Given the description of an element on the screen output the (x, y) to click on. 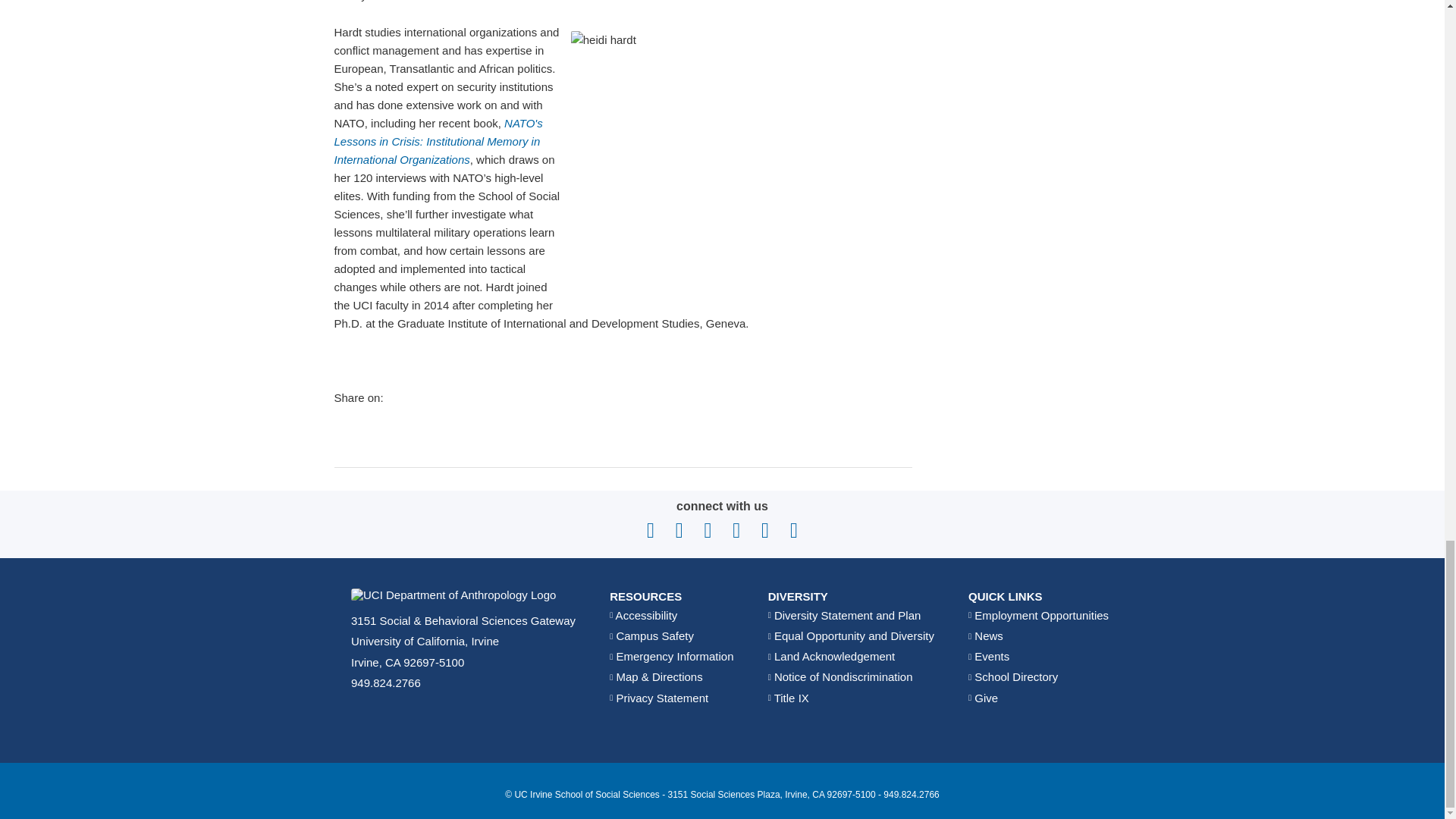
Equal Opportunity and Diversity (851, 635)
Accessibility (643, 615)
Emergency Information (671, 656)
Privacy Statement (658, 697)
Notice of Nondiscrimination (840, 676)
Title IX (788, 697)
News (985, 635)
Events (988, 656)
Diversity Statement and Plan (844, 615)
Campus Safety (652, 635)
Land Acknowledgement (831, 656)
Employment Opportunities (1038, 615)
